Given the description of an element on the screen output the (x, y) to click on. 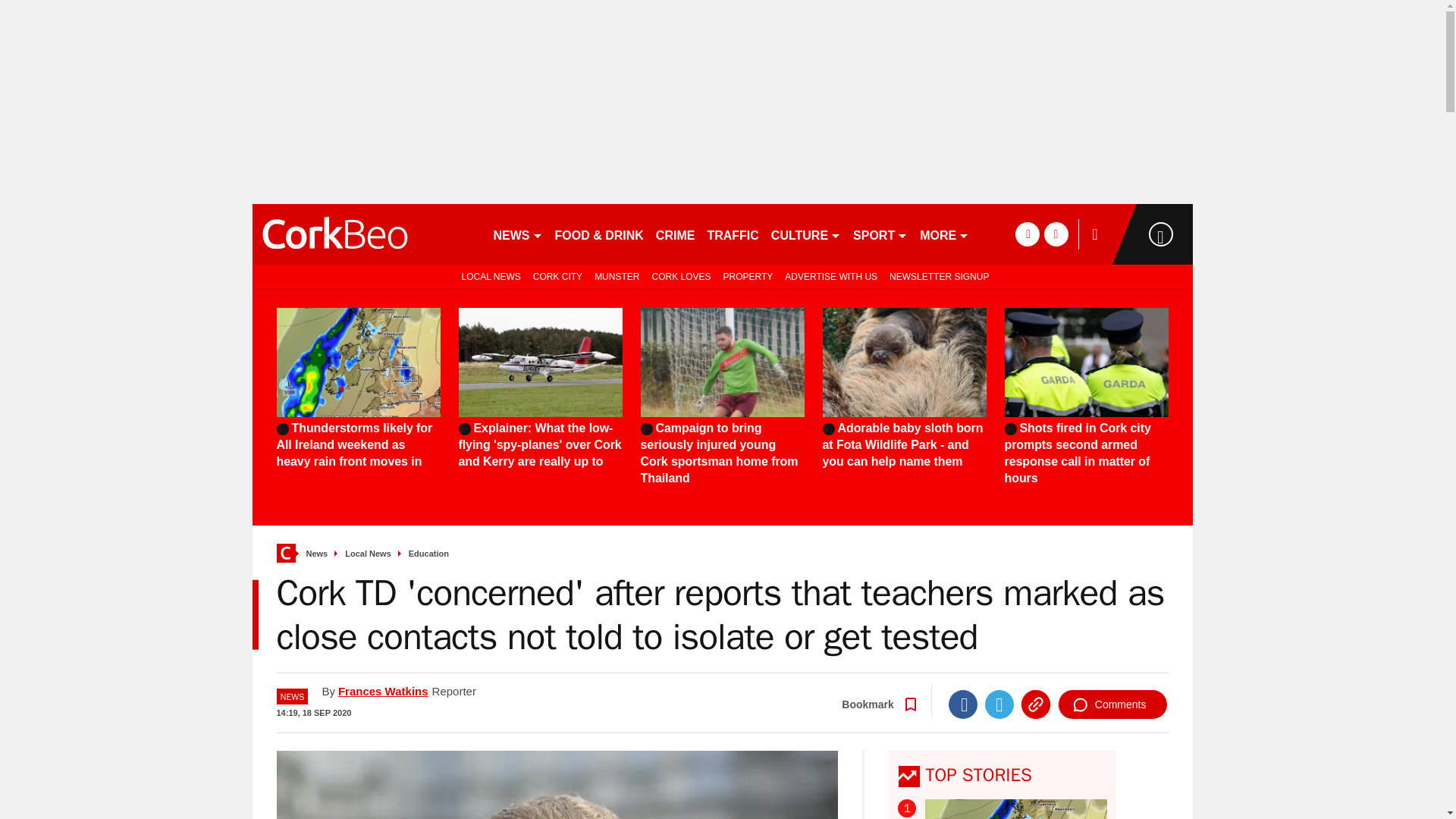
LOCAL NEWS (488, 275)
CORK LOVES (680, 275)
Facebook (962, 704)
ADVERTISE WITH US (830, 275)
NEWSLETTER SIGNUP (938, 275)
twitter (1055, 233)
corklive (365, 233)
CORK CITY (557, 275)
TRAFFIC (732, 233)
MUNSTER (616, 275)
facebook (1026, 233)
Twitter (999, 704)
CULTURE (806, 233)
SPORT (880, 233)
PROPERTY (747, 275)
